Given the description of an element on the screen output the (x, y) to click on. 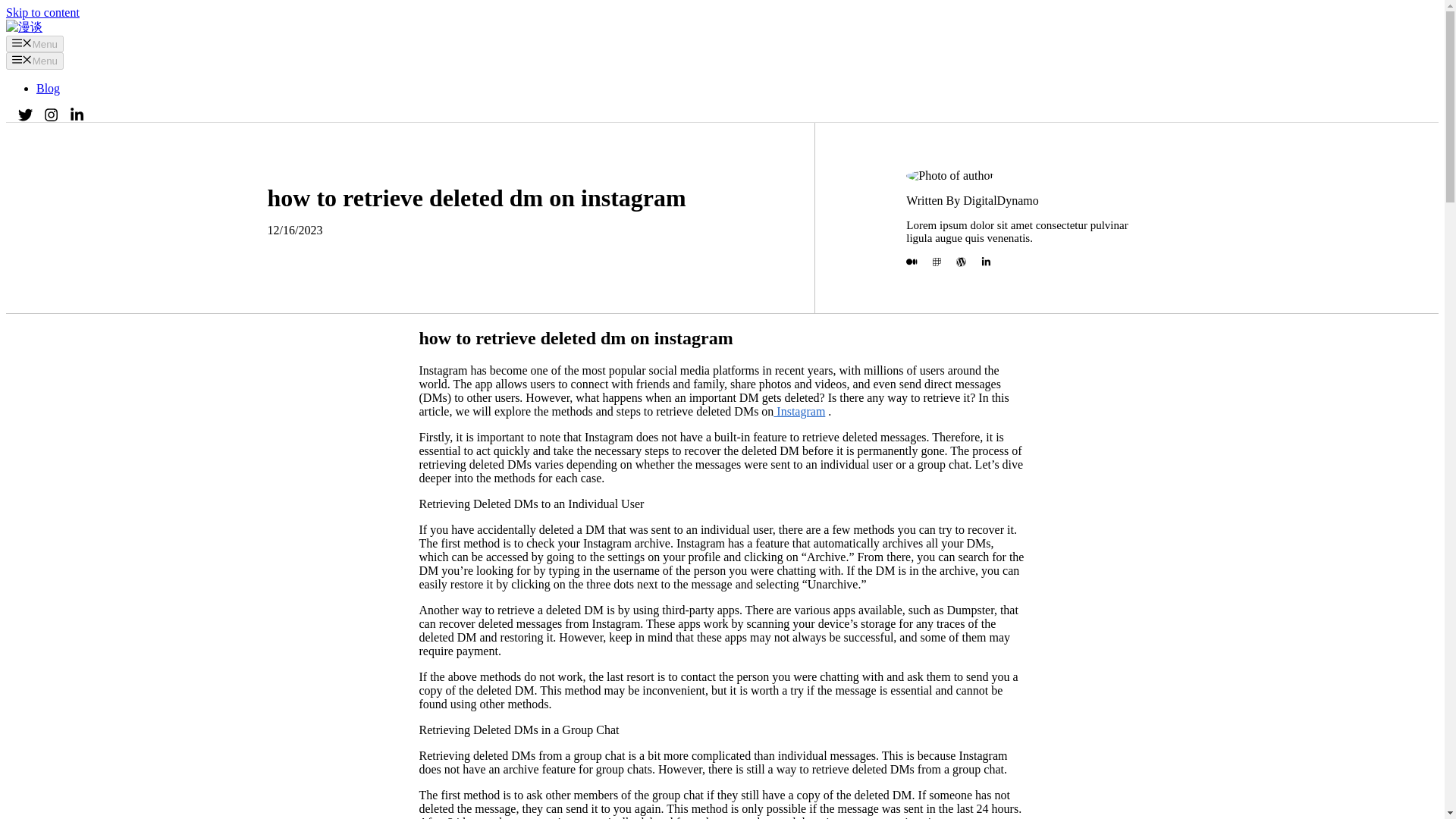
Skip to content (42, 11)
Blog (47, 88)
Instagram (799, 410)
Menu (34, 44)
Menu (34, 60)
Skip to content (42, 11)
